Given the description of an element on the screen output the (x, y) to click on. 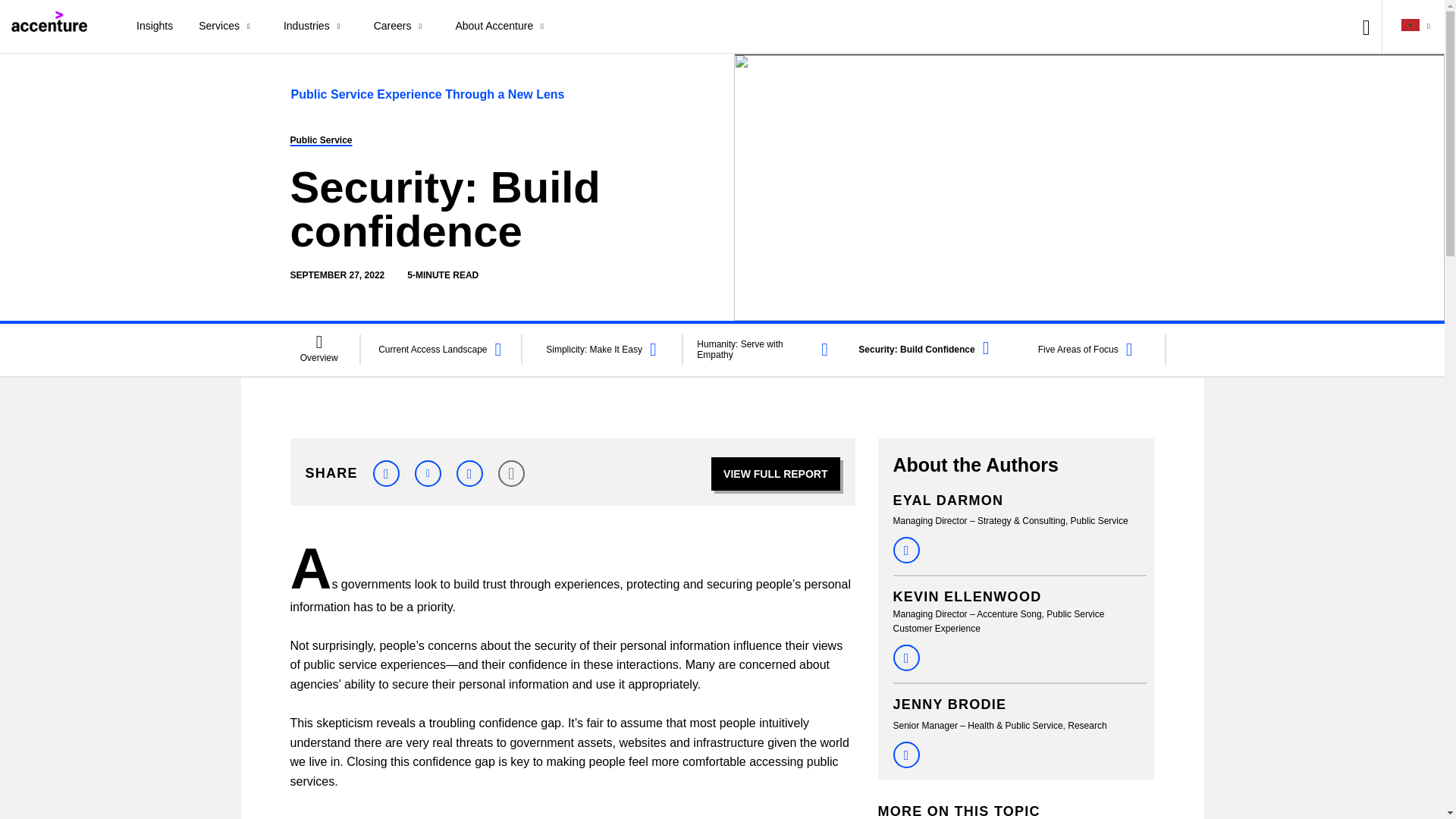
Industries (315, 26)
Insights (154, 26)
Services (228, 26)
